Given the description of an element on the screen output the (x, y) to click on. 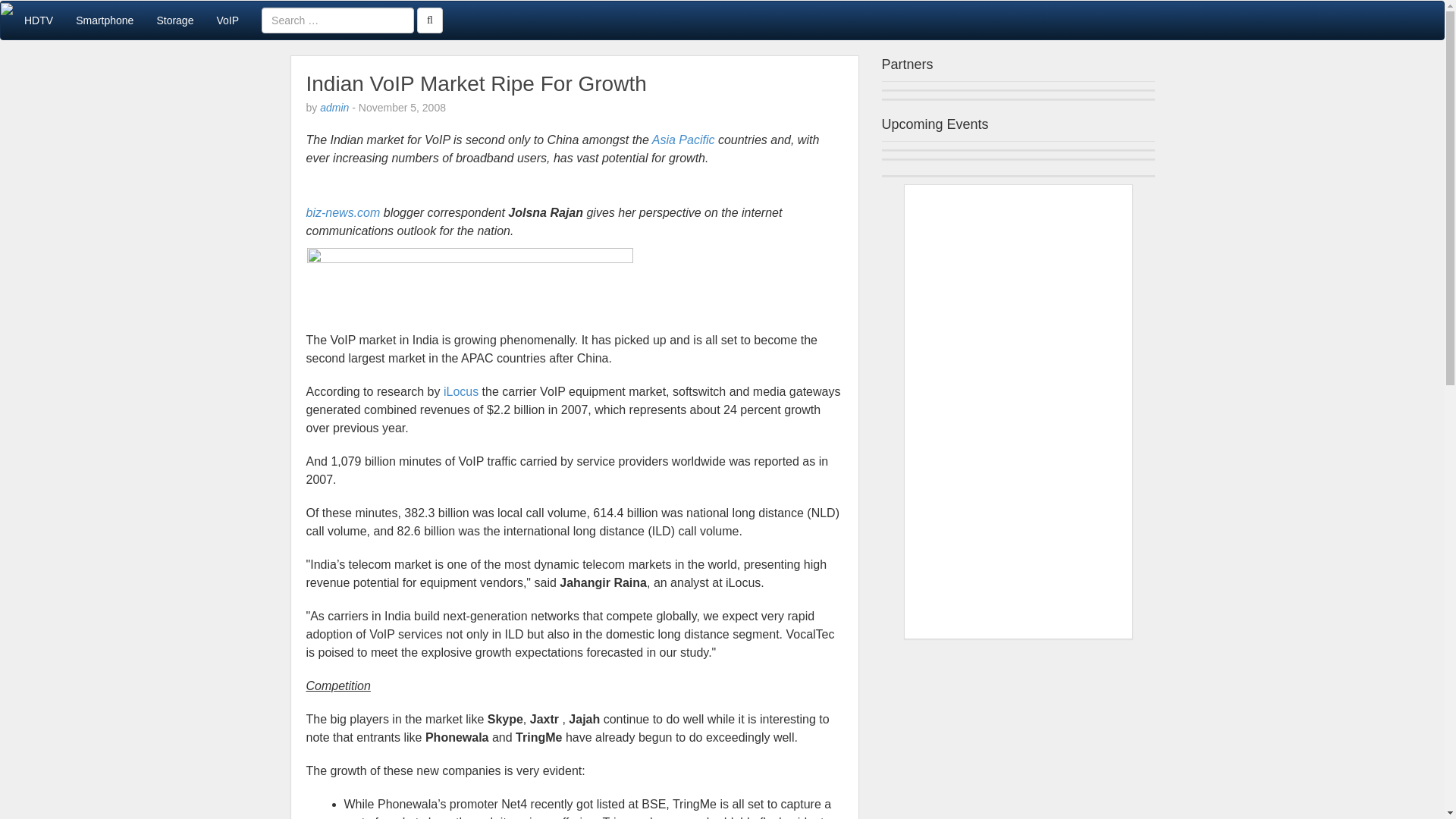
Posts by admin (334, 107)
admin (334, 107)
Indian VoIP Market Ripe For Growth (475, 83)
iLocus (461, 391)
Indian VoIP Market Ripe For Growth (475, 83)
Smartphone (104, 20)
VoIP (227, 20)
Asia Pacific (683, 139)
biz-news.com (342, 212)
Storage (174, 20)
HDTV (38, 20)
